Given the description of an element on the screen output the (x, y) to click on. 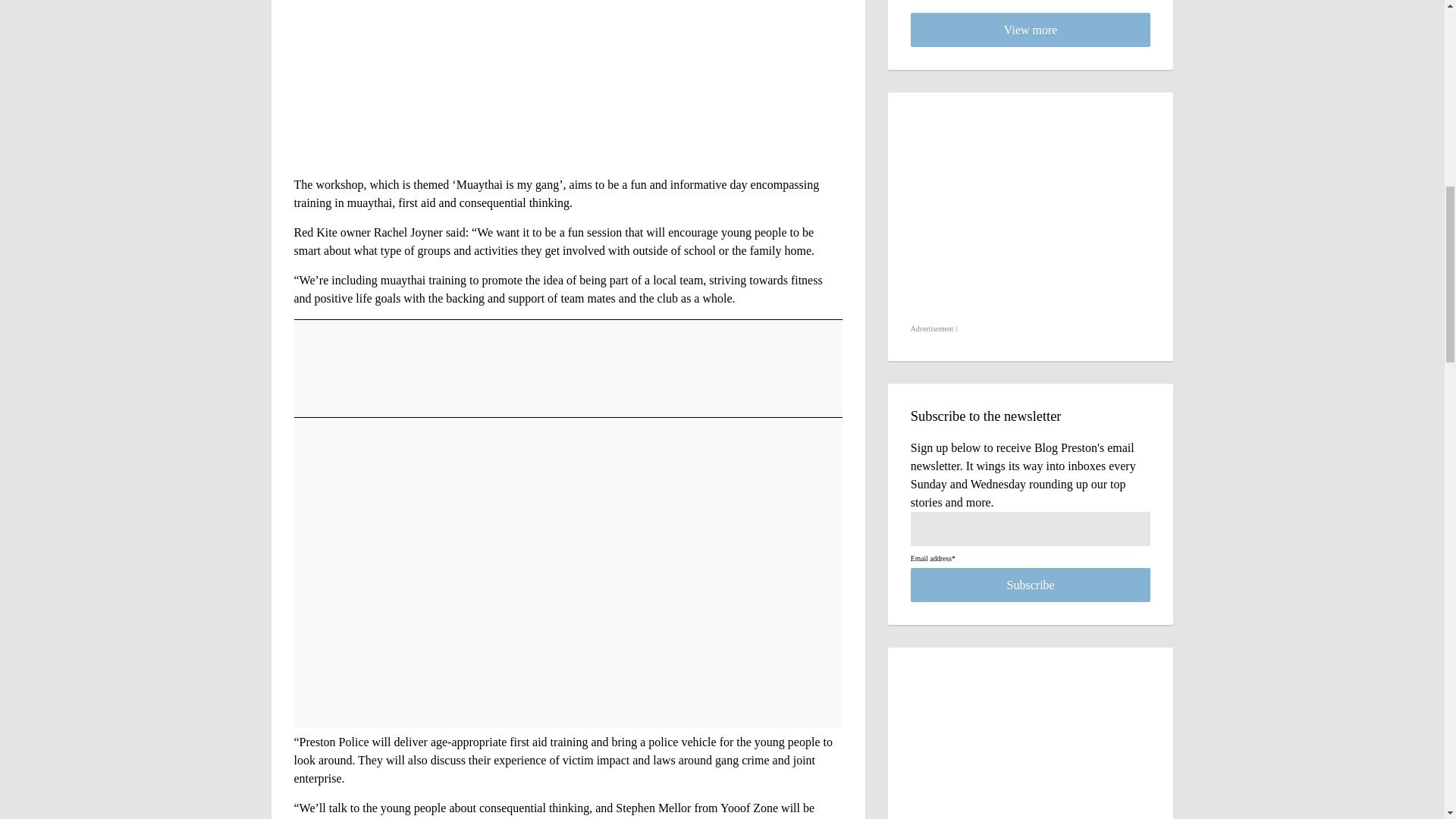
View more (1031, 29)
Advertisement (934, 329)
Subscribe (1031, 584)
Subscribe (1031, 584)
